Given the description of an element on the screen output the (x, y) to click on. 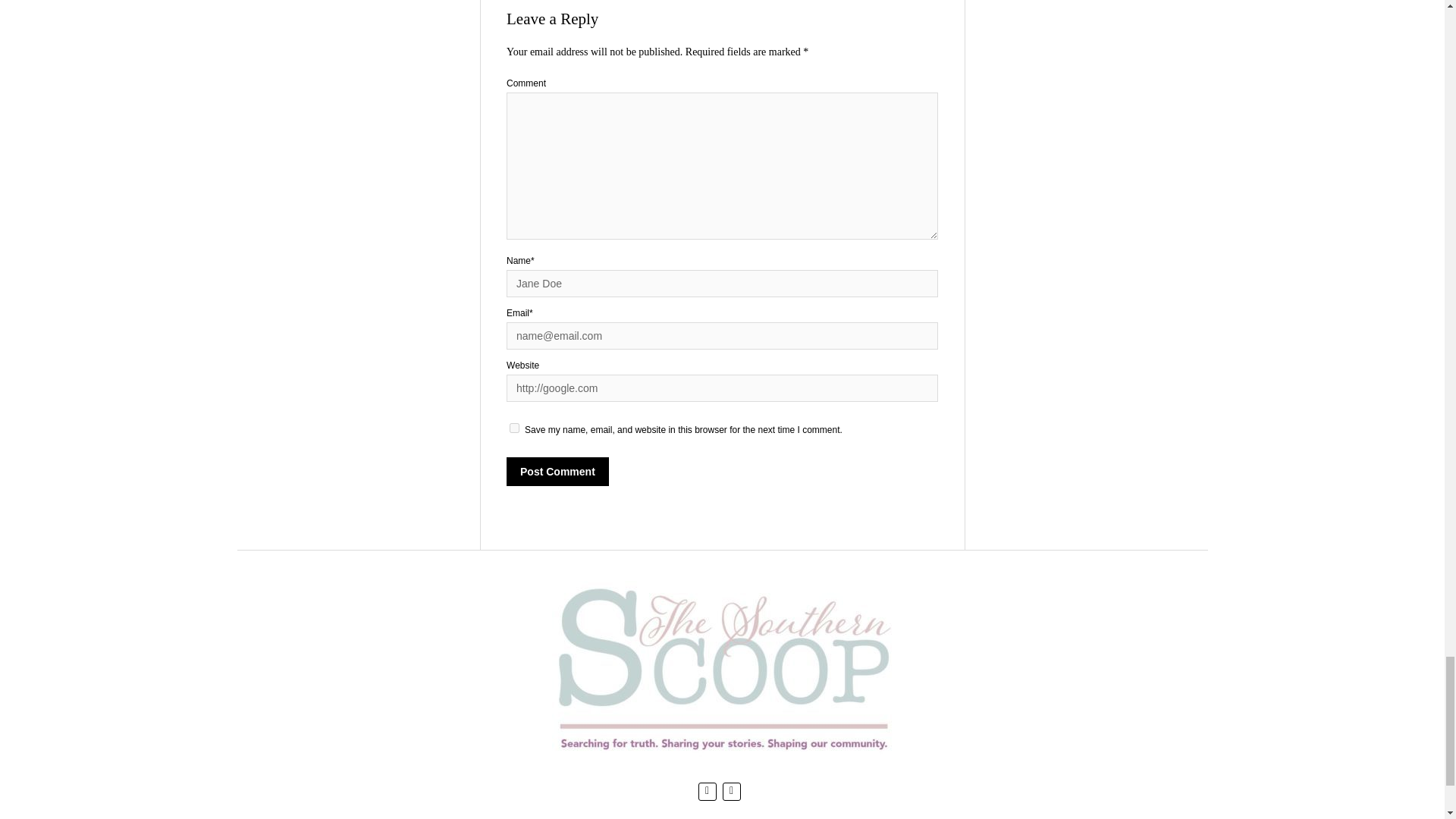
Post Comment (557, 470)
yes (514, 428)
